Given the description of an element on the screen output the (x, y) to click on. 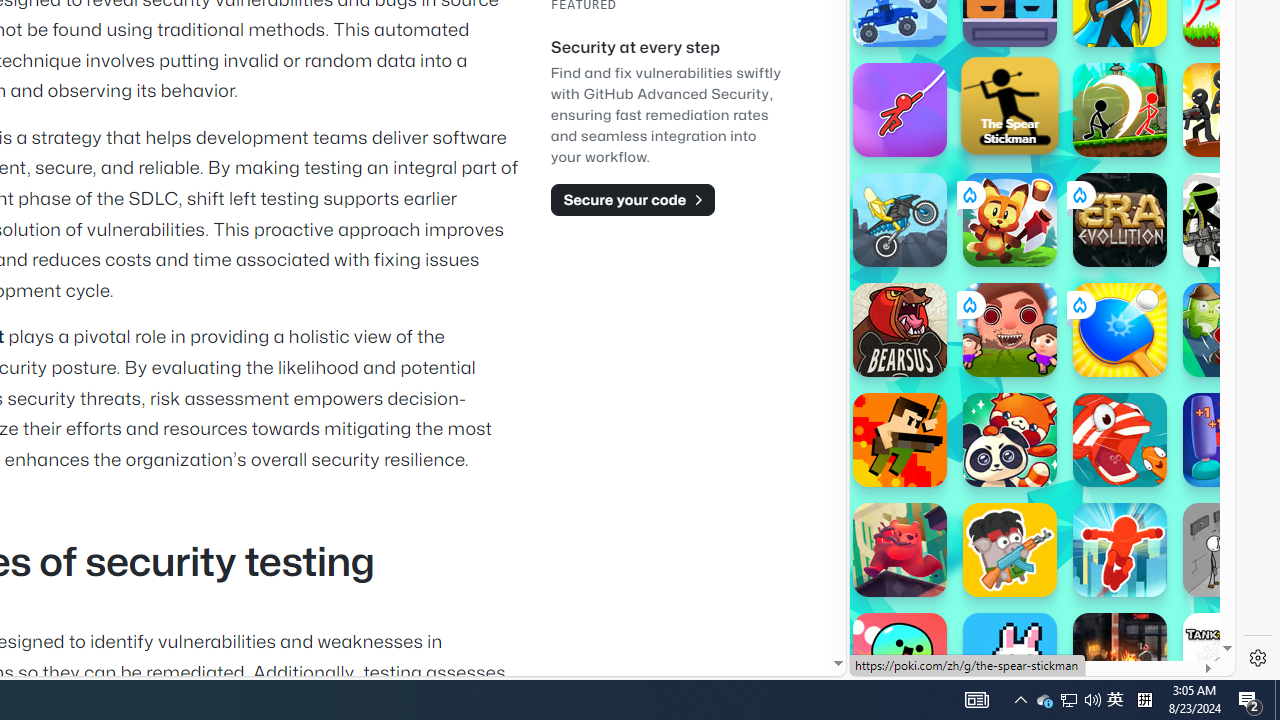
Combat Reloaded (1092, 300)
Bacon May Die (1009, 549)
Stickman Army: The Defenders Stickman Army: The Defenders (1229, 219)
Parkour Race (1119, 549)
Combat Reloaded (1092, 200)
Search results from poki.com (1005, 59)
Bacon May Die Bacon May Die (1009, 549)
Joyrider (899, 219)
Ping Pong Go! Ping Pong Go! (1119, 329)
Secure your code (632, 199)
Stickman Archero Fight Stickman Archero Fight (1119, 109)
Tag 2 Tag 2 (1229, 329)
Global web icon (888, 607)
